Given the description of an element on the screen output the (x, y) to click on. 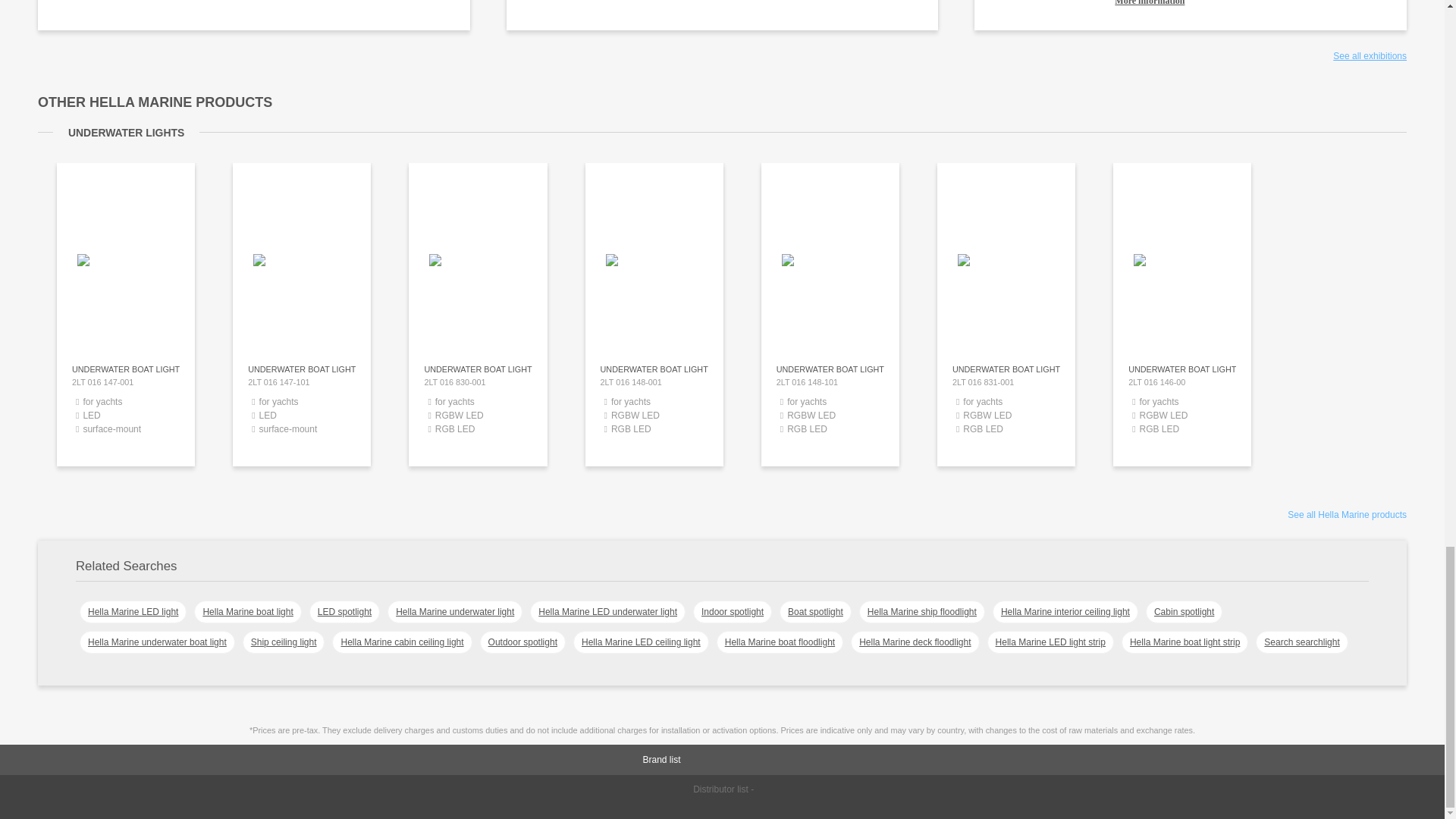
Hella Marine LED light (133, 611)
More information (1253, 3)
See all Hella Marine products (1346, 514)
Hella Marine boat light (247, 611)
See all exhibitions (1369, 55)
